Given the description of an element on the screen output the (x, y) to click on. 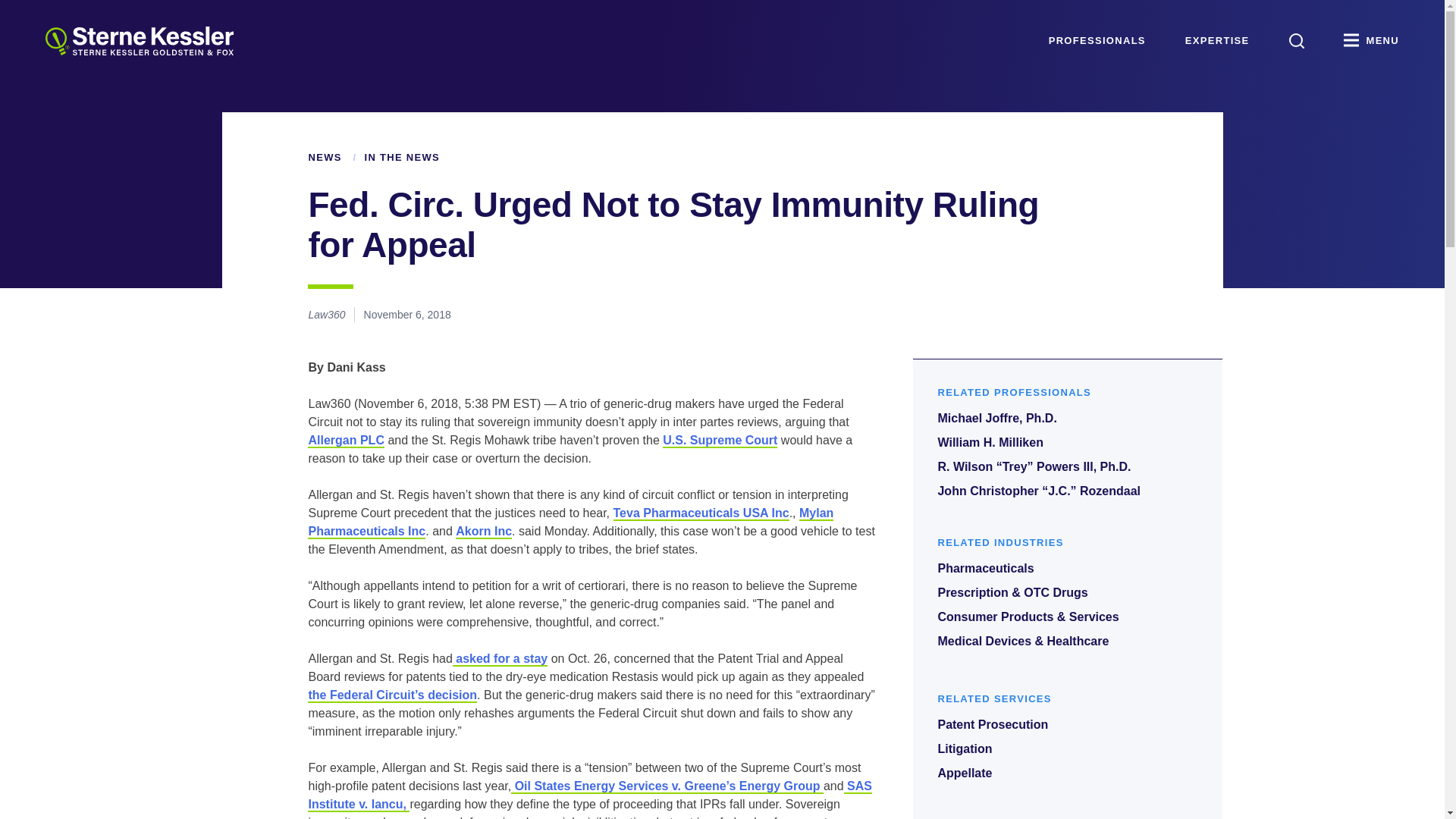
PROFESSIONALS (1096, 40)
MENU (1371, 40)
Sterne Kessler (138, 40)
